Given the description of an element on the screen output the (x, y) to click on. 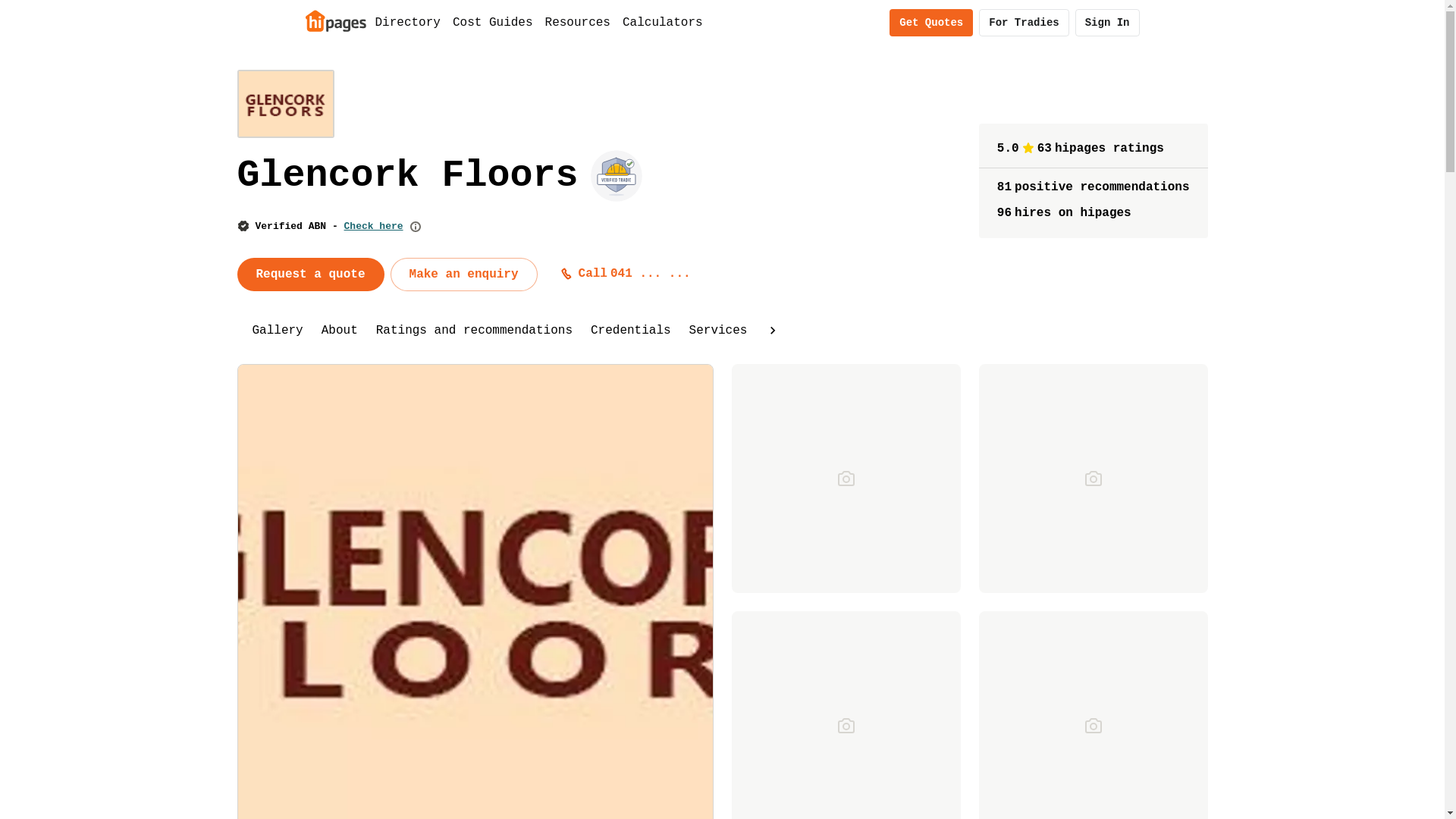
Directory Element type: text (406, 22)
Make an enquiry Element type: text (463, 274)
Verified ABN - Check here Element type: text (328, 226)
Cost Guides Element type: text (492, 22)
Get Quotes Element type: text (930, 22)
Services Element type: text (718, 330)
Call
041 ... ... Element type: text (626, 273)
For Tradies Element type: text (1023, 22)
Request a quote Element type: text (309, 274)
Resources Element type: text (577, 22)
Home Element type: hover (334, 20)
Gallery Element type: text (276, 330)
About Element type: text (339, 330)
Ratings and recommendations Element type: text (474, 330)
Credentials Element type: text (630, 330)
Calculators Element type: text (662, 22)
Call
041 ... ... Element type: text (629, 273)
Sign In Element type: text (1107, 22)
